Given the description of an element on the screen output the (x, y) to click on. 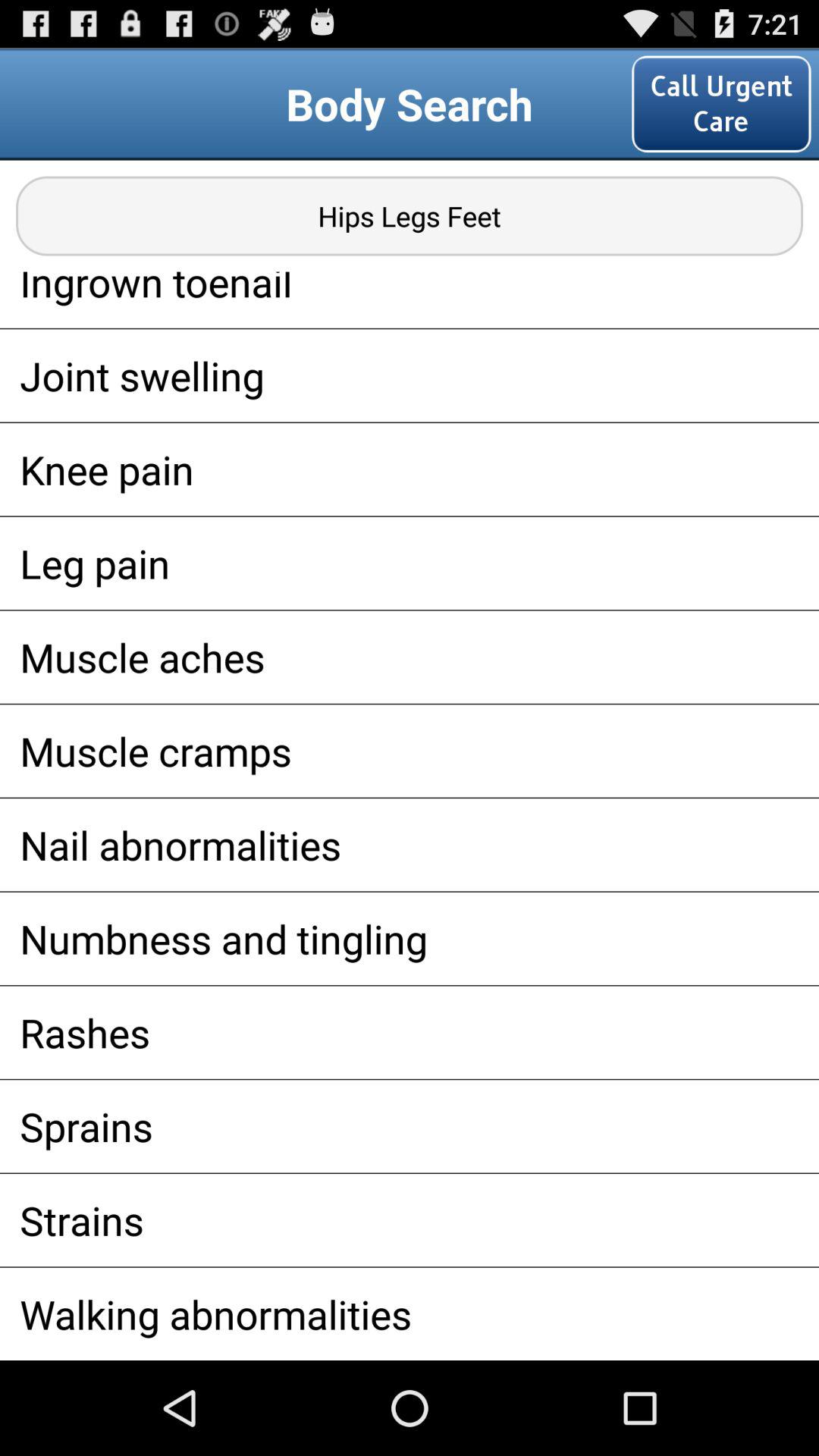
press the icon below the leg pain app (409, 656)
